Given the description of an element on the screen output the (x, y) to click on. 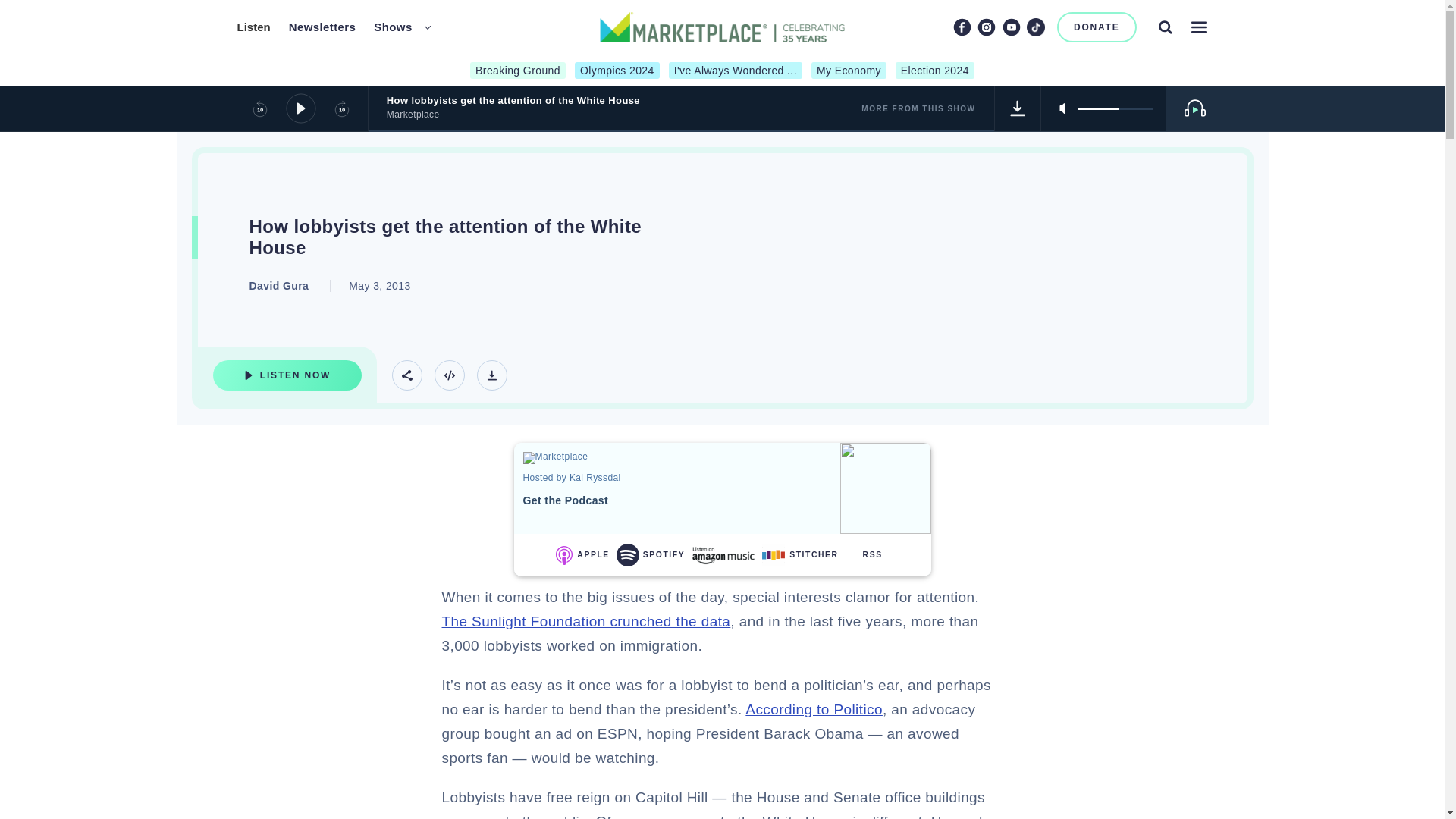
Youtube (1011, 27)
Listen Now (286, 374)
DONATE (1097, 27)
Shows (393, 26)
Menu (1198, 27)
Listen (252, 26)
5 (1115, 108)
Search (1164, 27)
TikTok (1035, 27)
Download Track (1017, 108)
